Given the description of an element on the screen output the (x, y) to click on. 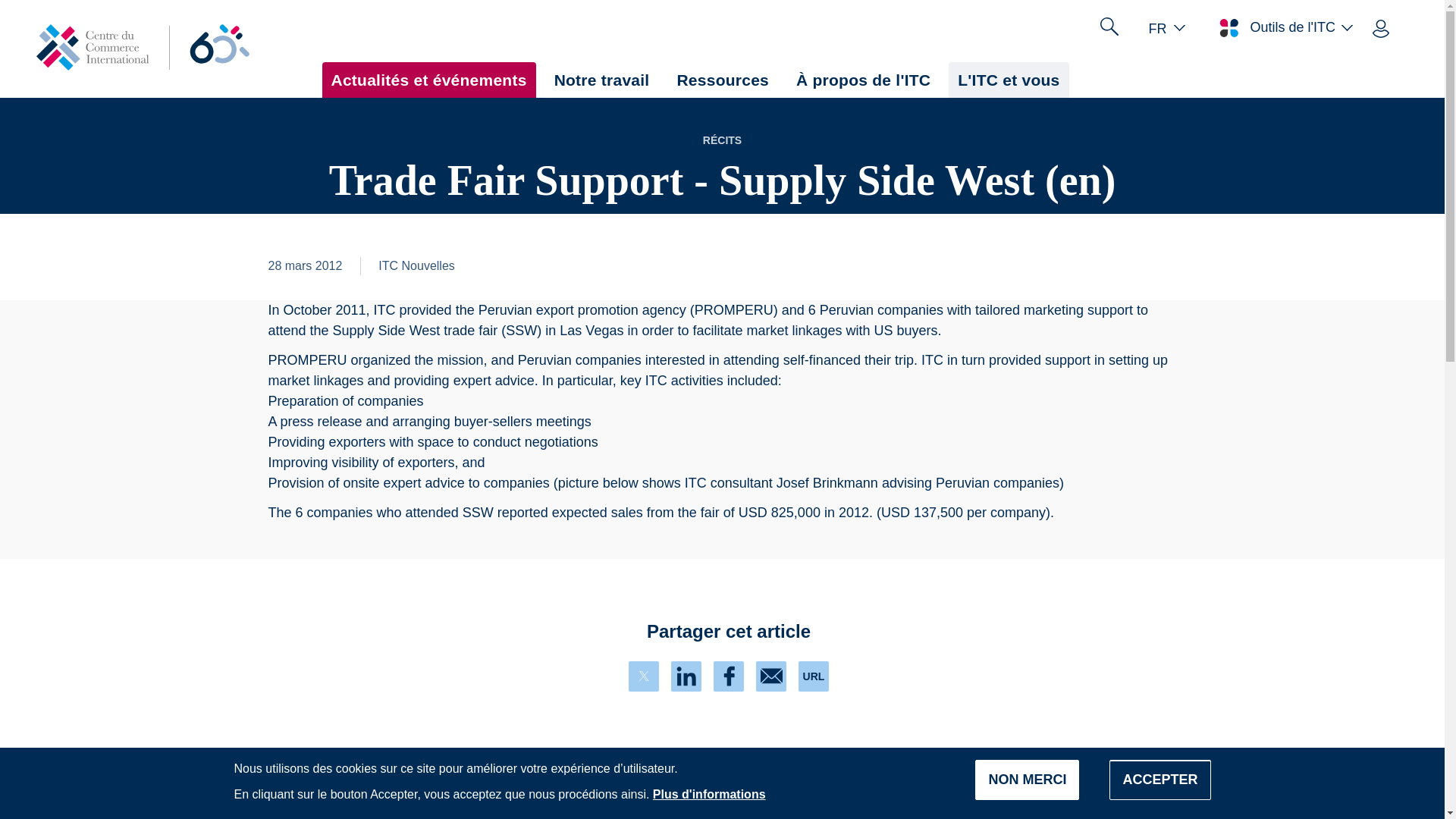
ACCEPTER (1159, 780)
NON MERCI (1026, 780)
Identifiant (1379, 27)
Plus d'informations (708, 793)
